Given the description of an element on the screen output the (x, y) to click on. 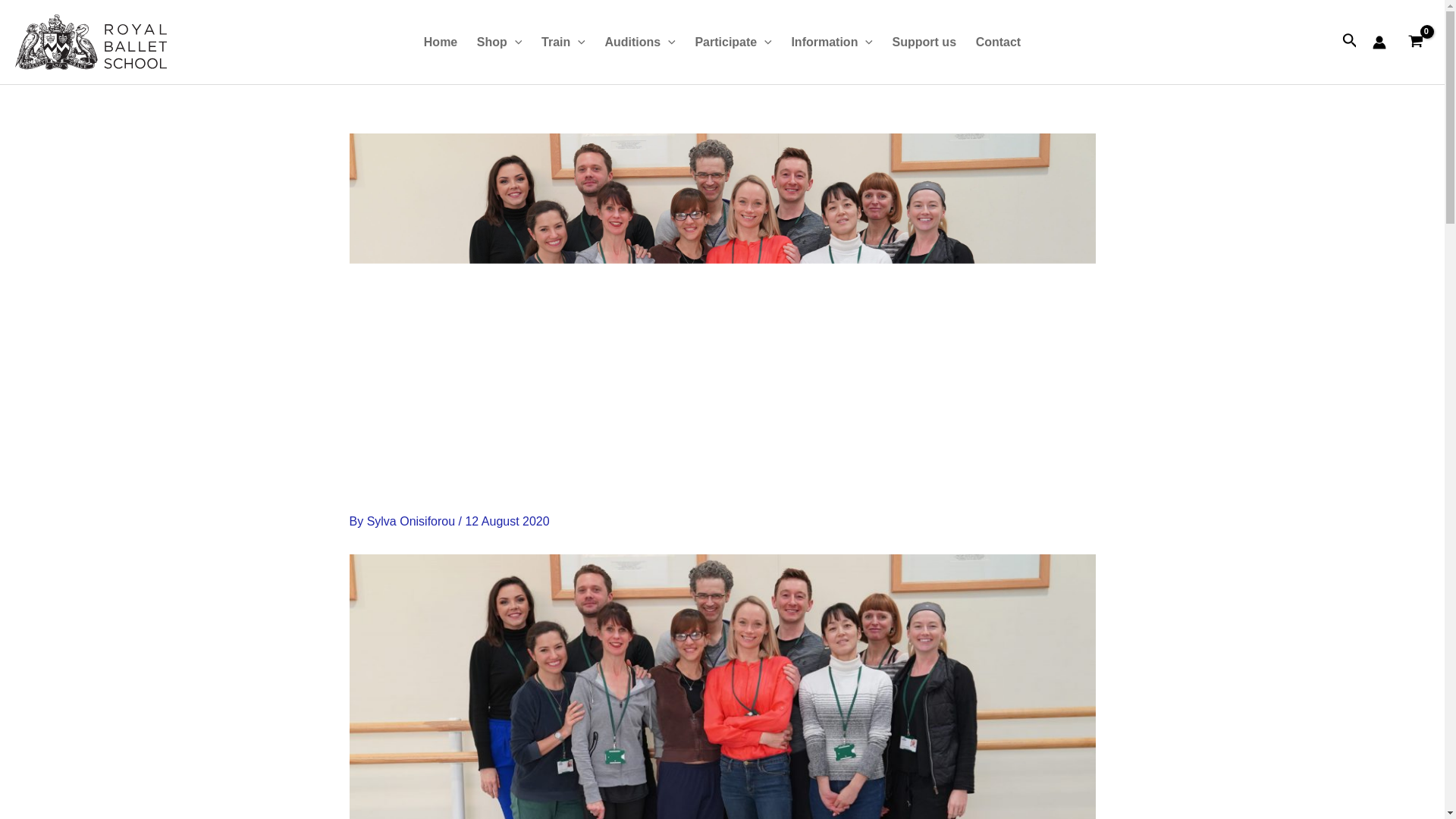
Auditions (640, 42)
Home (440, 42)
Shop (499, 42)
Participate (733, 42)
Train (562, 42)
View all posts by Sylva Onisiforou (412, 521)
